Given the description of an element on the screen output the (x, y) to click on. 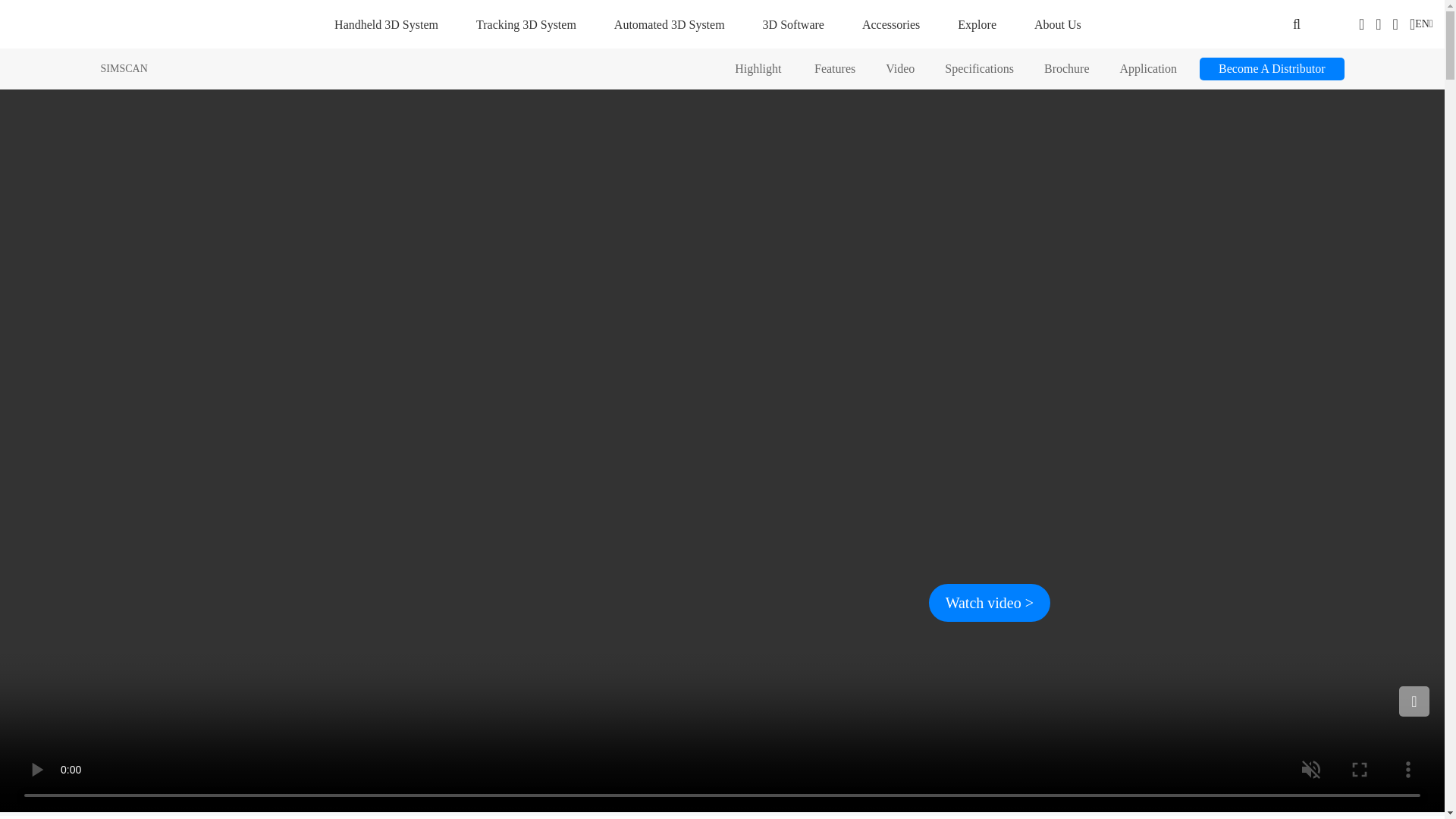
Handheld 3D System (386, 23)
Tracking 3D System (526, 23)
